Given the description of an element on the screen output the (x, y) to click on. 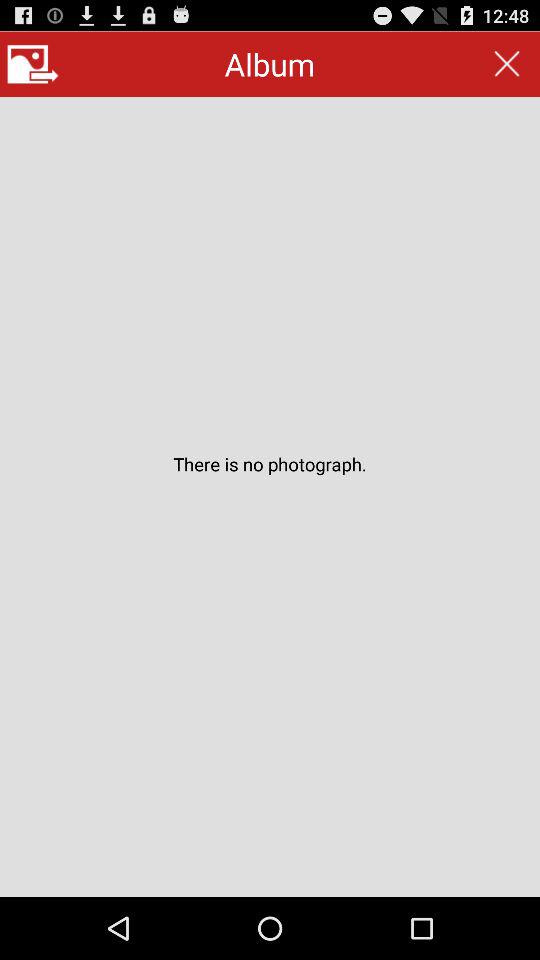
exit (506, 64)
